Given the description of an element on the screen output the (x, y) to click on. 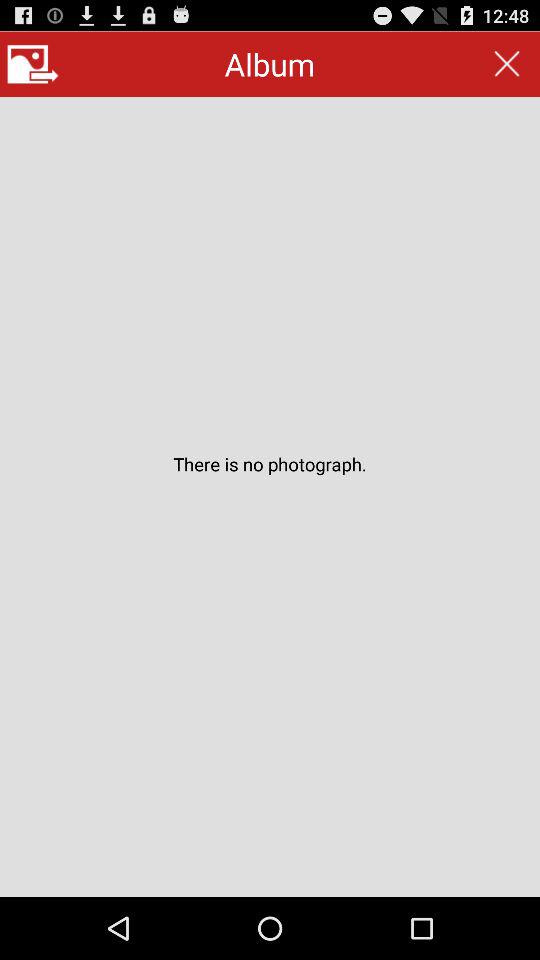
exit (506, 64)
